Given the description of an element on the screen output the (x, y) to click on. 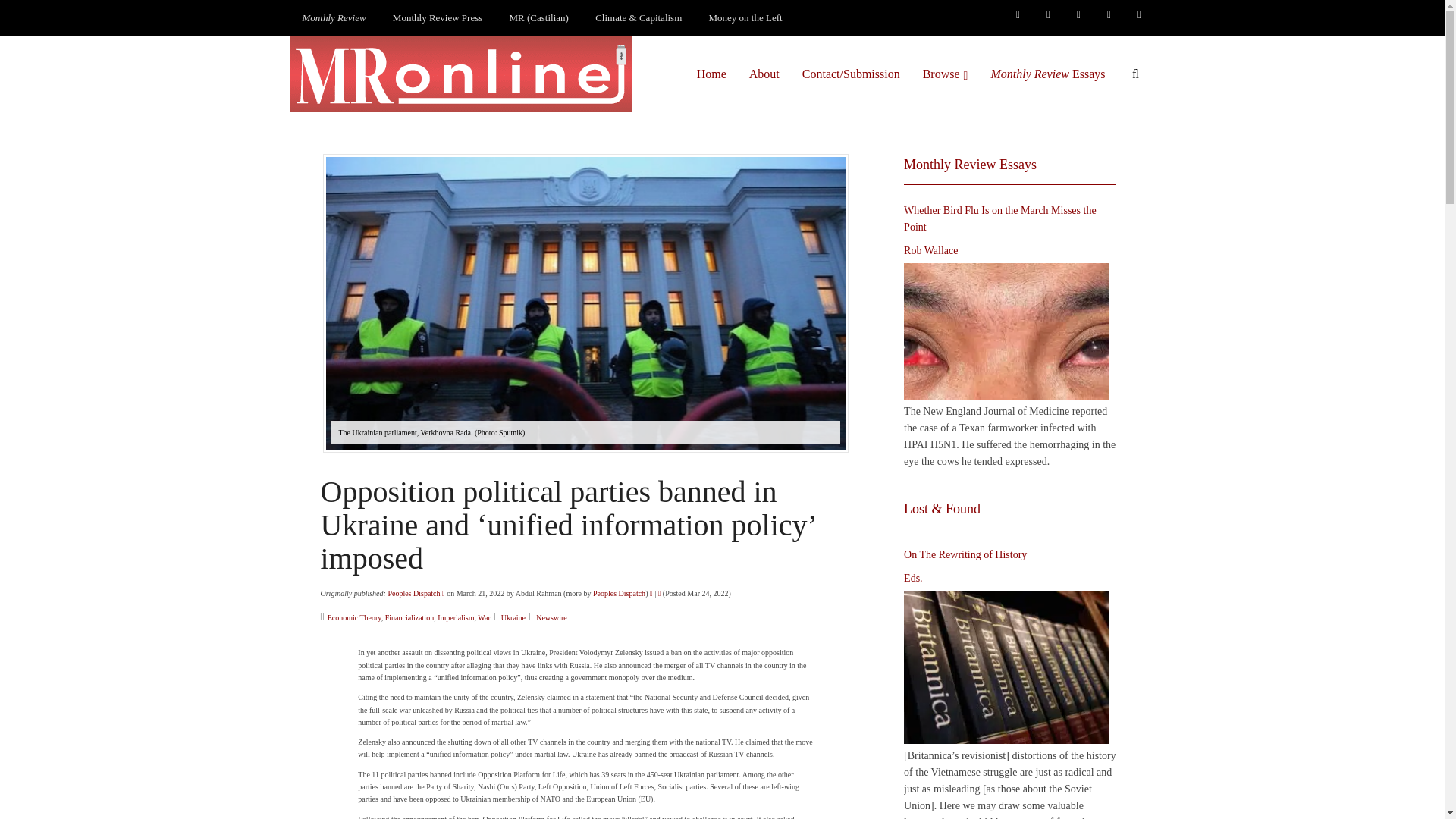
Money on the Left (745, 18)
Monthly Review (333, 18)
Posts by Eds. (913, 578)
On The Rewriting of History (1006, 666)
Monthly Review Press (437, 18)
Whether Bird Flu Is on the March Misses the Point (1006, 330)
Posts by Rob Wallace (931, 250)
Browse (945, 74)
Monthly Review Magazine (333, 18)
